Given the description of an element on the screen output the (x, y) to click on. 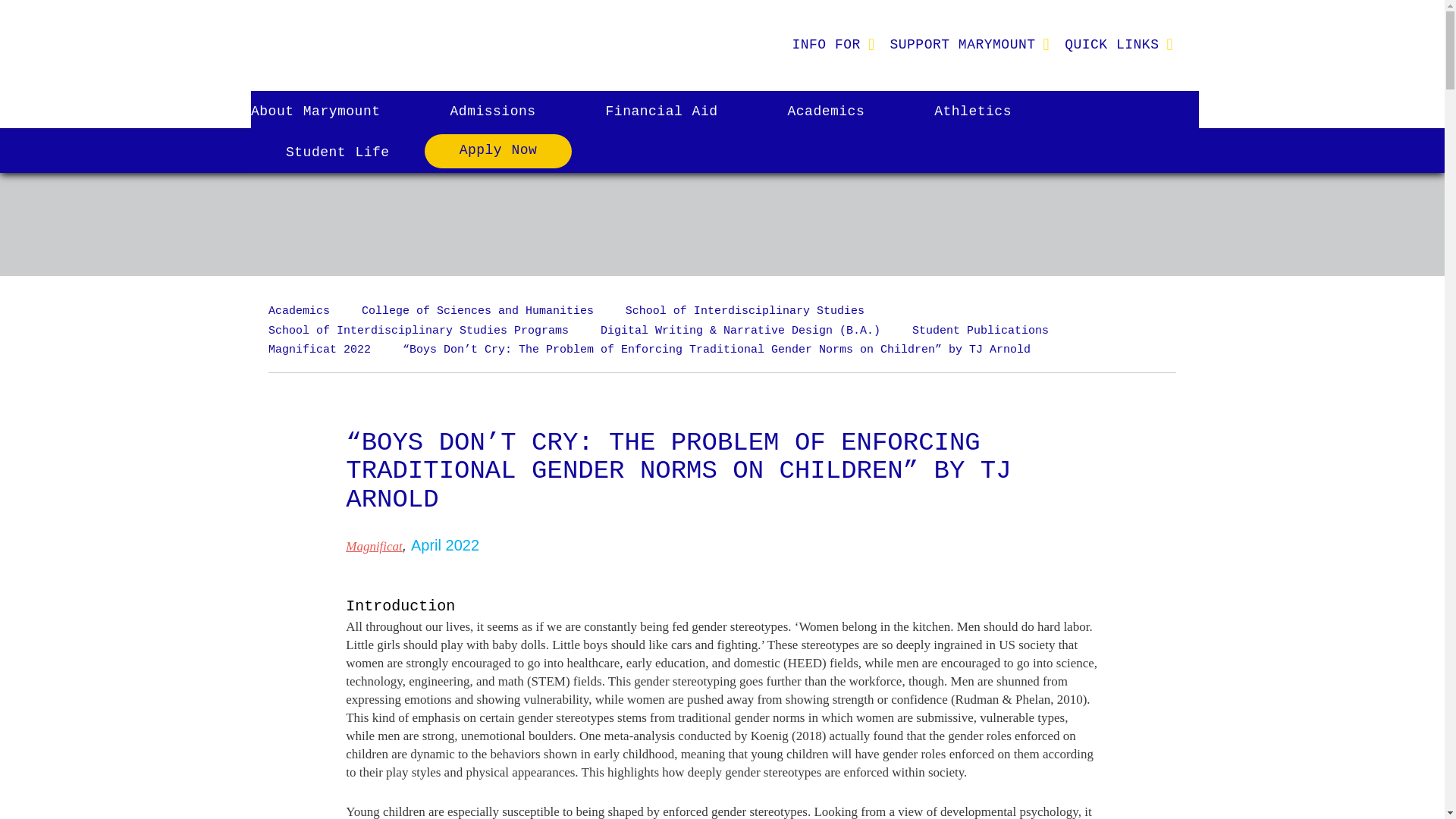
INFO FOR (825, 44)
QUICK LINKS (1111, 44)
SUPPORT MARYMOUNT (962, 44)
About Marymount (332, 110)
